Given the description of an element on the screen output the (x, y) to click on. 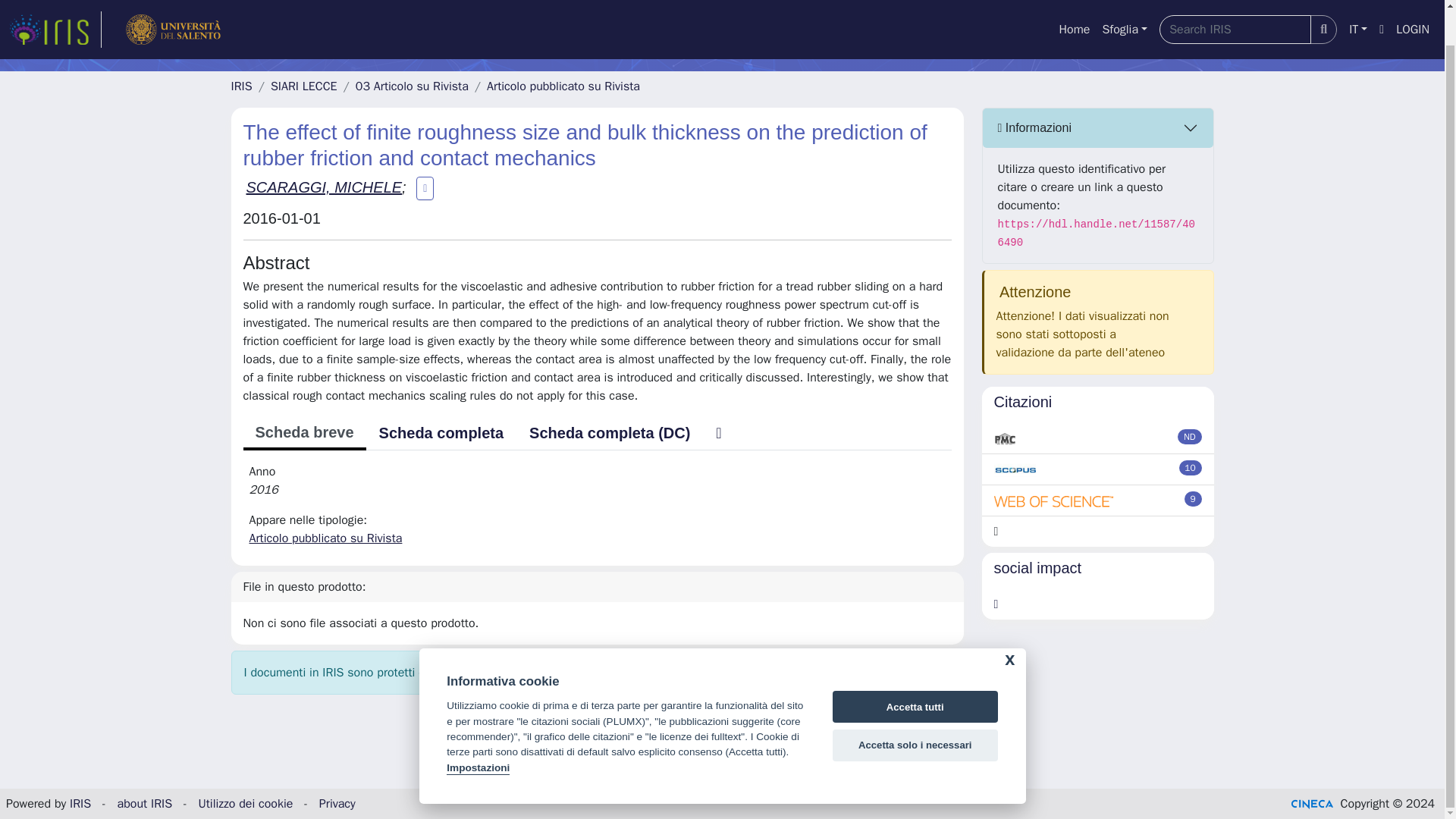
SCARAGGI, MICHELE (323, 187)
Articolo pubblicato su Rivista (324, 538)
IT (1357, 4)
Scheda breve (304, 433)
IRIS (79, 803)
SIARI LECCE (303, 86)
IRIS (240, 86)
03 Articolo su Rivista (411, 86)
Sfoglia (1124, 4)
Articolo pubblicato su Rivista (563, 86)
